Given the description of an element on the screen output the (x, y) to click on. 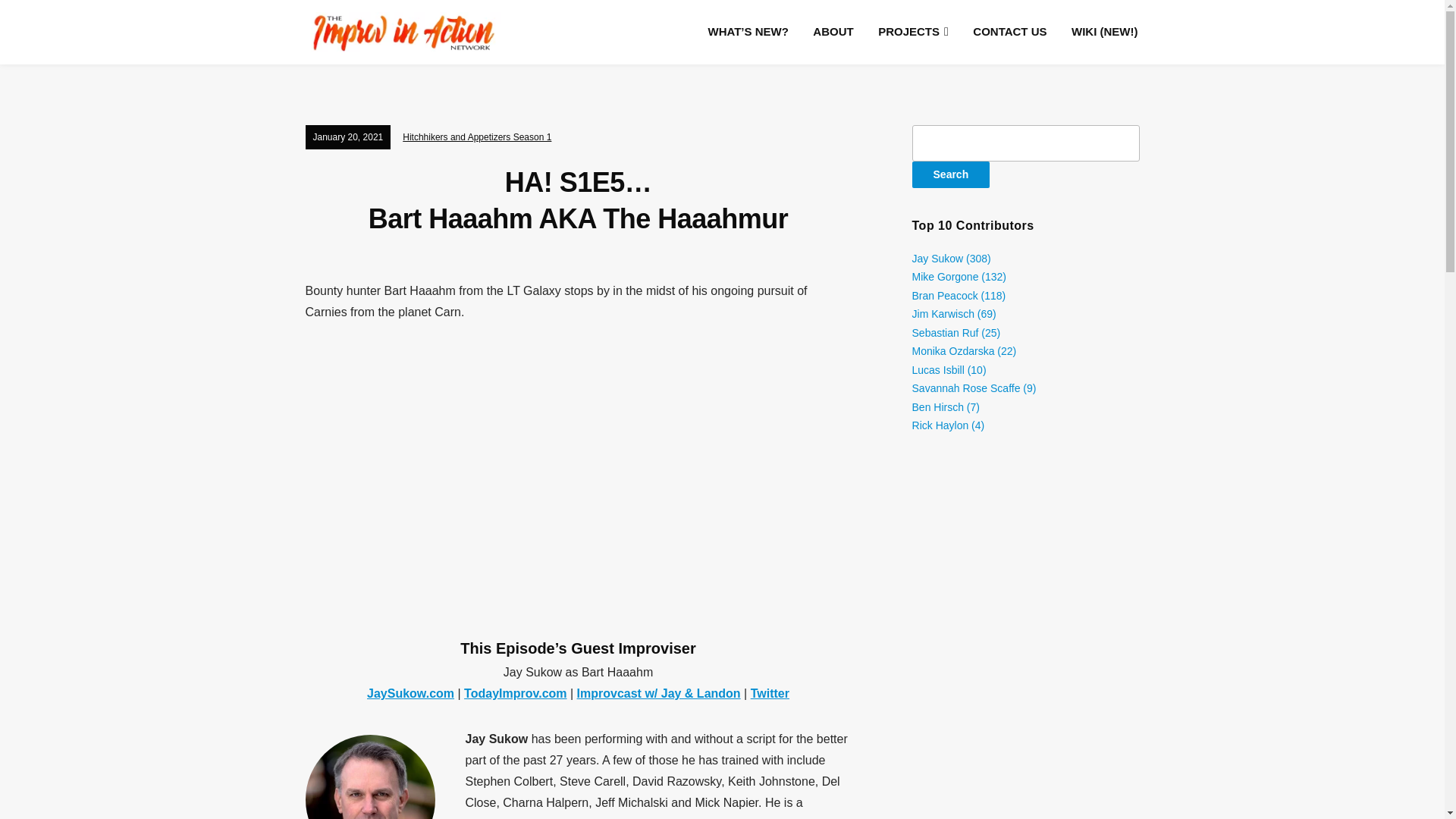
CONTACT US (1009, 31)
Search (951, 174)
Hitchhikers and Appetizers Season 1 (477, 136)
ABOUT (832, 31)
PROJECTS (913, 31)
